Given the description of an element on the screen output the (x, y) to click on. 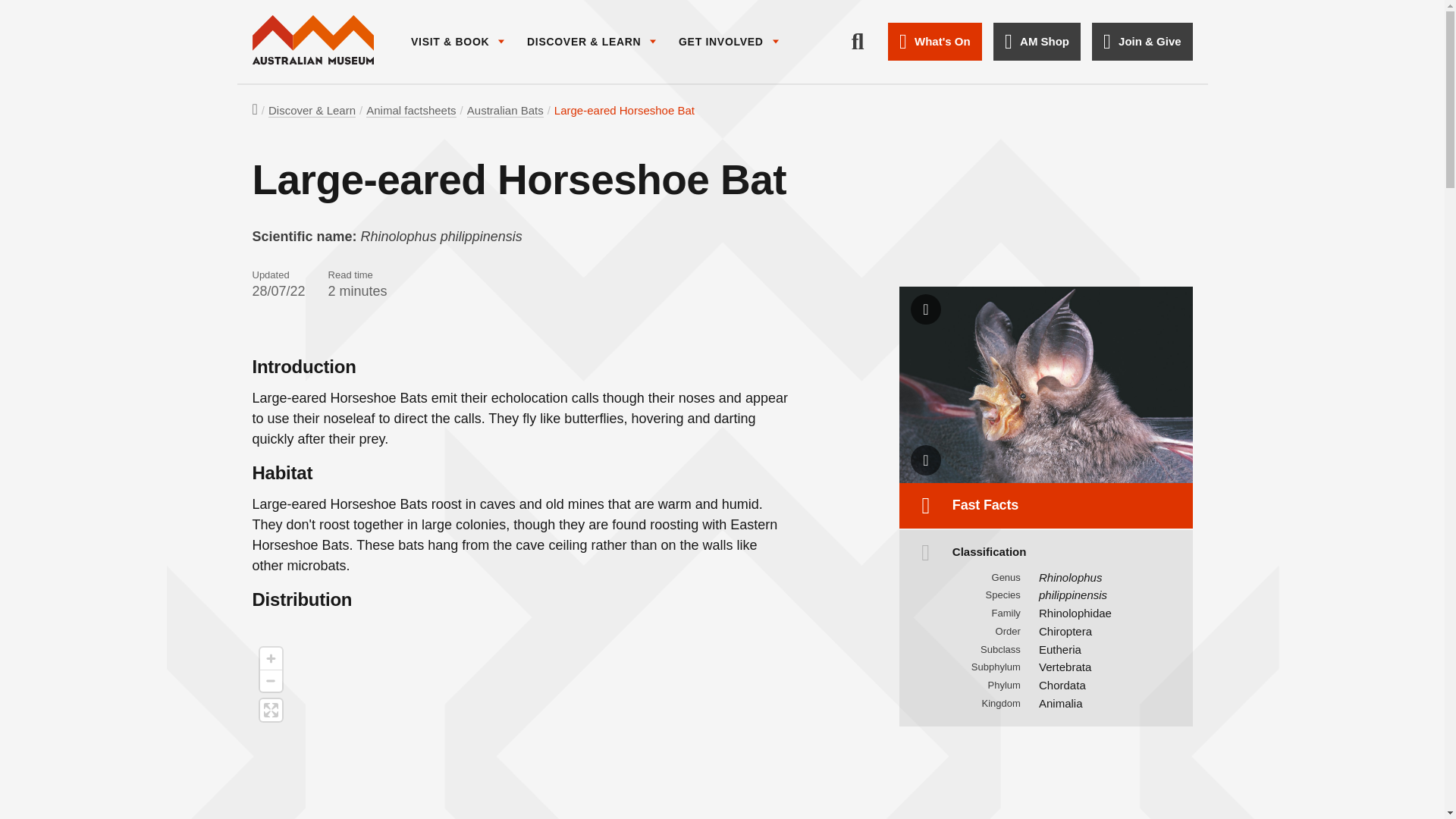
Zoom out (270, 680)
Zoom in (270, 658)
Enter fullscreen (270, 710)
Go to homepage (311, 40)
Welcome to the Australian Museum website (311, 40)
